Given the description of an element on the screen output the (x, y) to click on. 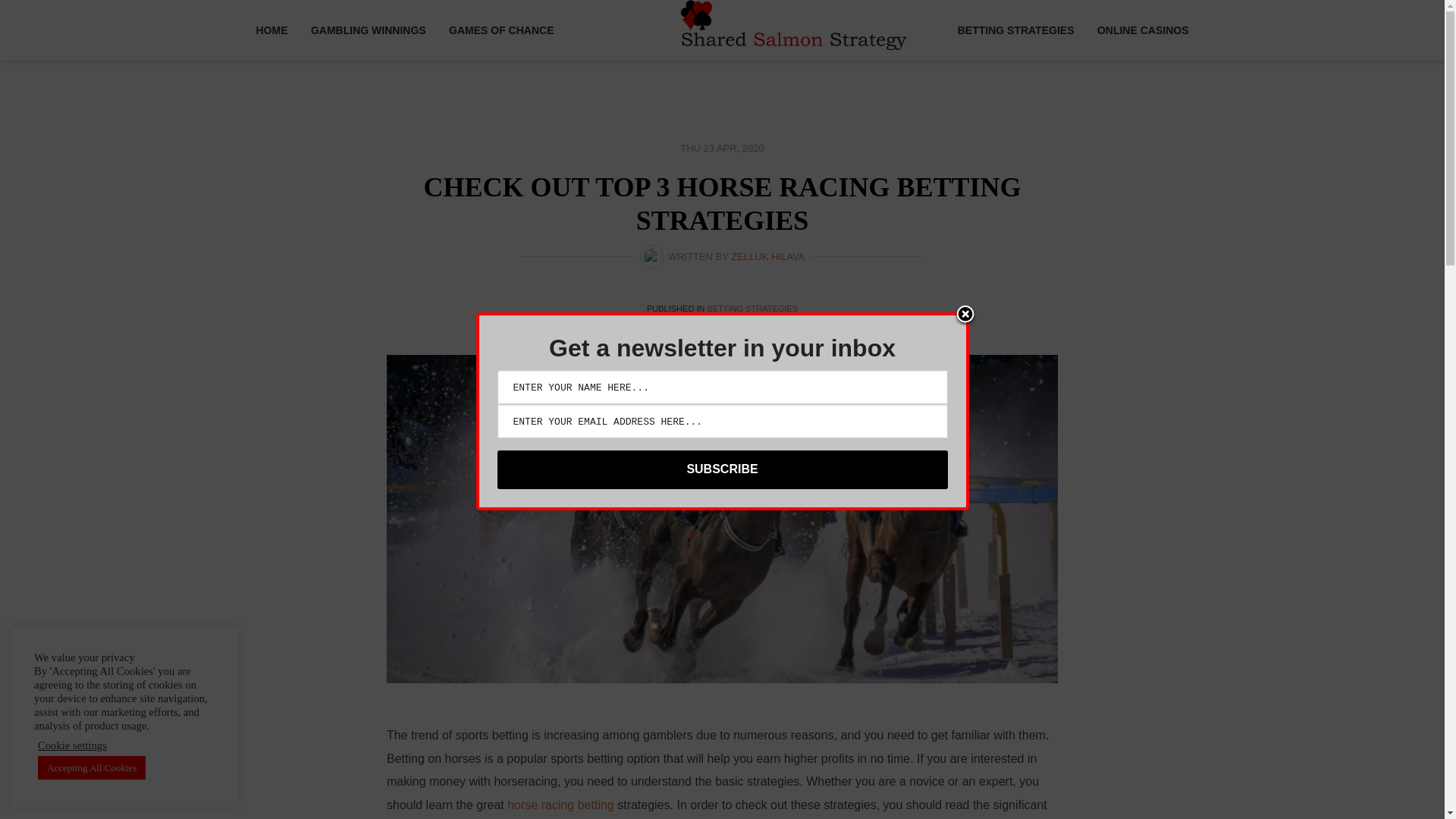
ZELLUK HILAVA (767, 256)
Take Action Now! (243, 19)
Shared Salmon Strategy (793, 24)
BETTING STRATEGIES (1021, 30)
BETTING STRATEGIES (751, 307)
Close (964, 314)
Accepting All Cookies (91, 767)
Skip to content (296, 11)
Subscribe (722, 469)
View all posts by Zelluk Hilava (767, 256)
Subscribe (722, 469)
GAMES OF CHANCE (496, 30)
ONLINE CASINOS (1138, 30)
Skip to content (296, 11)
horse racing betting (560, 804)
